Given the description of an element on the screen output the (x, y) to click on. 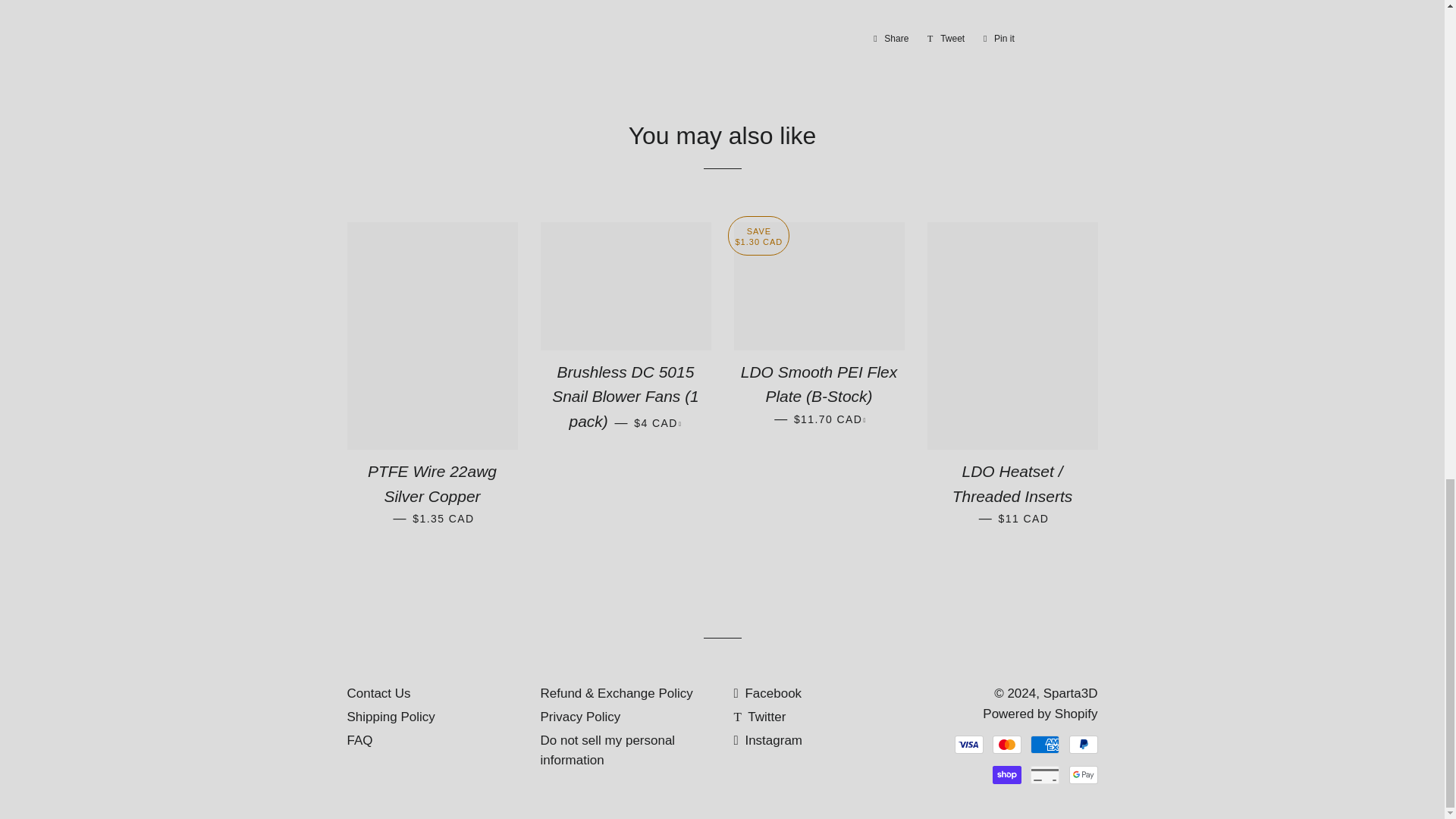
Shop Pay (1007, 774)
PayPal (1082, 744)
Tweet on Twitter (946, 38)
Generic (1044, 774)
Sparta3D on Instagram (768, 740)
Share on Facebook (890, 38)
American Express (1044, 744)
Sparta3D on Twitter (759, 716)
Pin on Pinterest (998, 38)
Mastercard (1007, 744)
